Given the description of an element on the screen output the (x, y) to click on. 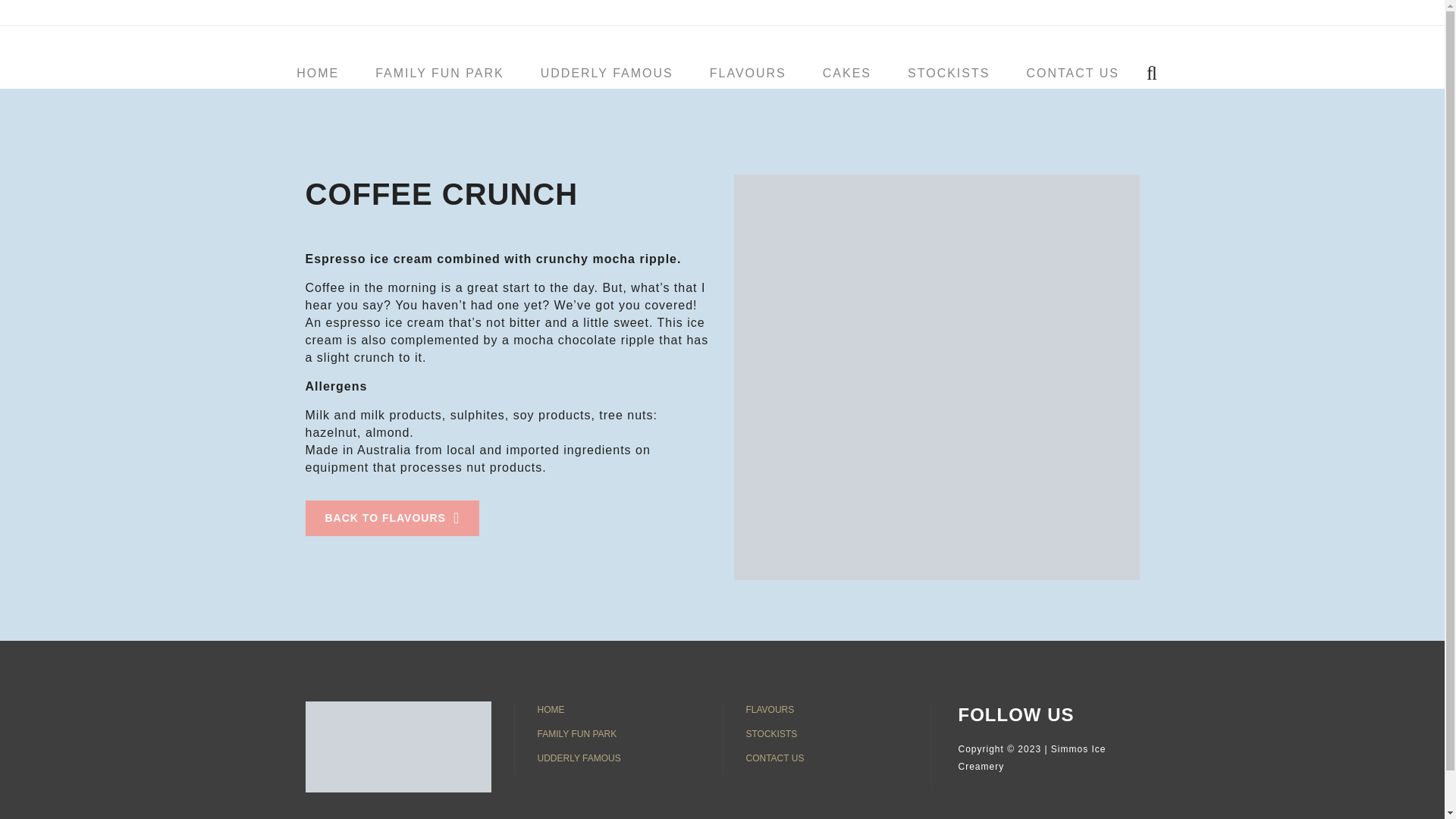
FLAVOURS (748, 73)
UDDERLY FAMOUS (617, 758)
CONTACT US (826, 758)
HOME (317, 73)
FAMILY FUN PARK (439, 73)
BACK TO FLAVOURS (391, 518)
FAMILY FUN PARK (617, 733)
HOME (617, 709)
UDDERLY FAMOUS (606, 73)
STOCKISTS (826, 733)
STOCKISTS (948, 73)
CAKES (847, 73)
FLAVOURS (826, 709)
CONTACT US (1072, 73)
